Given the description of an element on the screen output the (x, y) to click on. 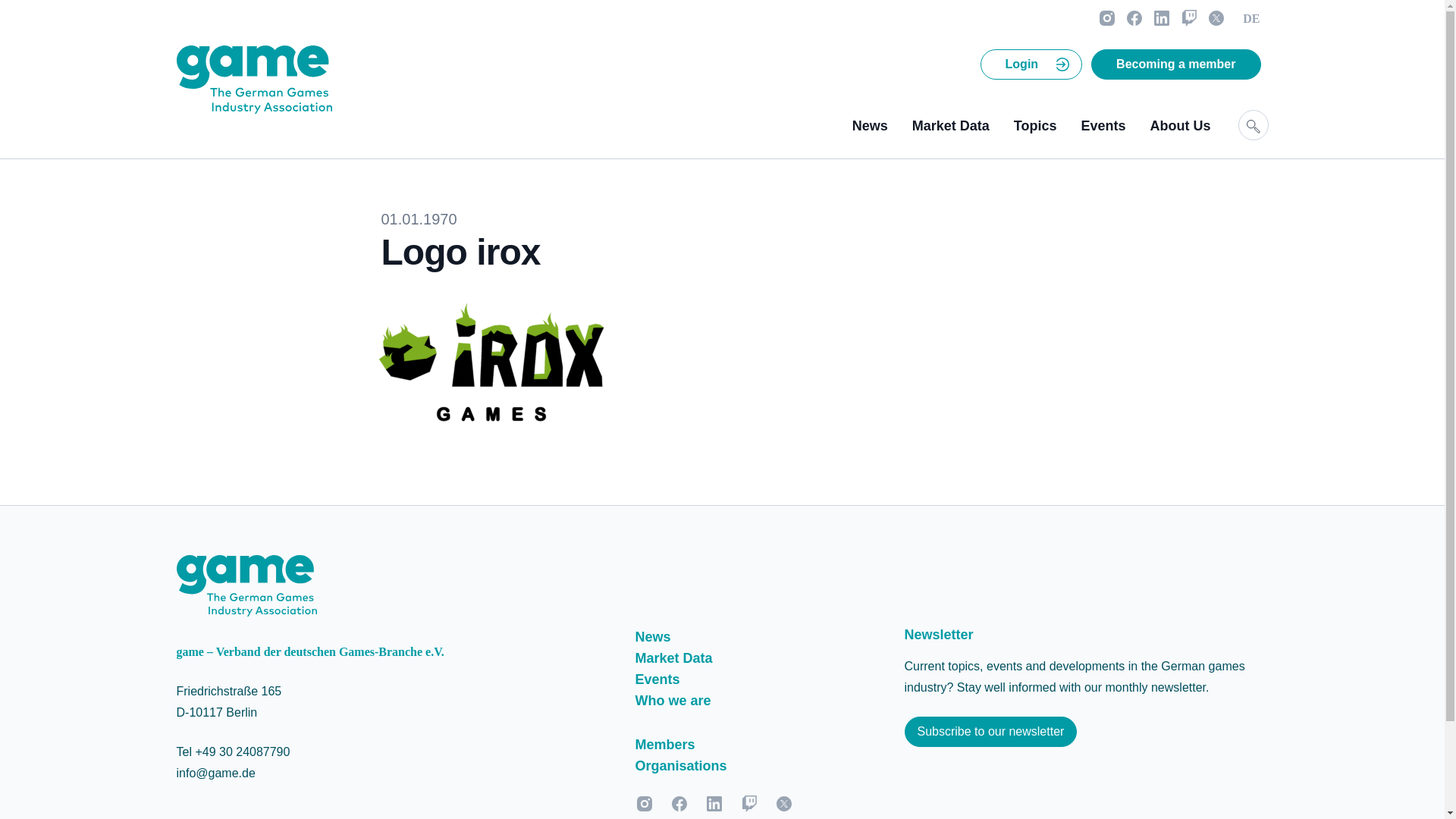
Market Data (951, 126)
Topics (1035, 126)
Becoming a member (1175, 63)
DE (1250, 18)
Login (1022, 63)
News (869, 126)
